Given the description of an element on the screen output the (x, y) to click on. 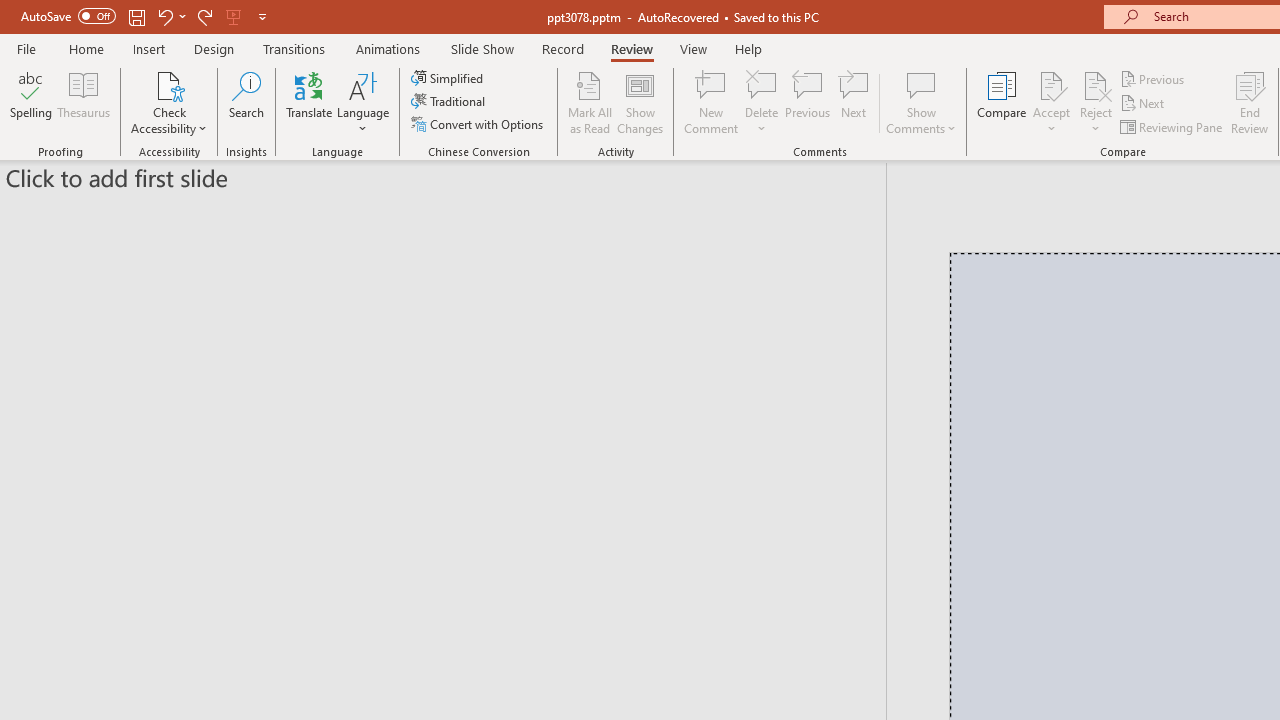
Check Accessibility (169, 102)
Reviewing Pane (1172, 126)
Translate (309, 102)
